Given the description of an element on the screen output the (x, y) to click on. 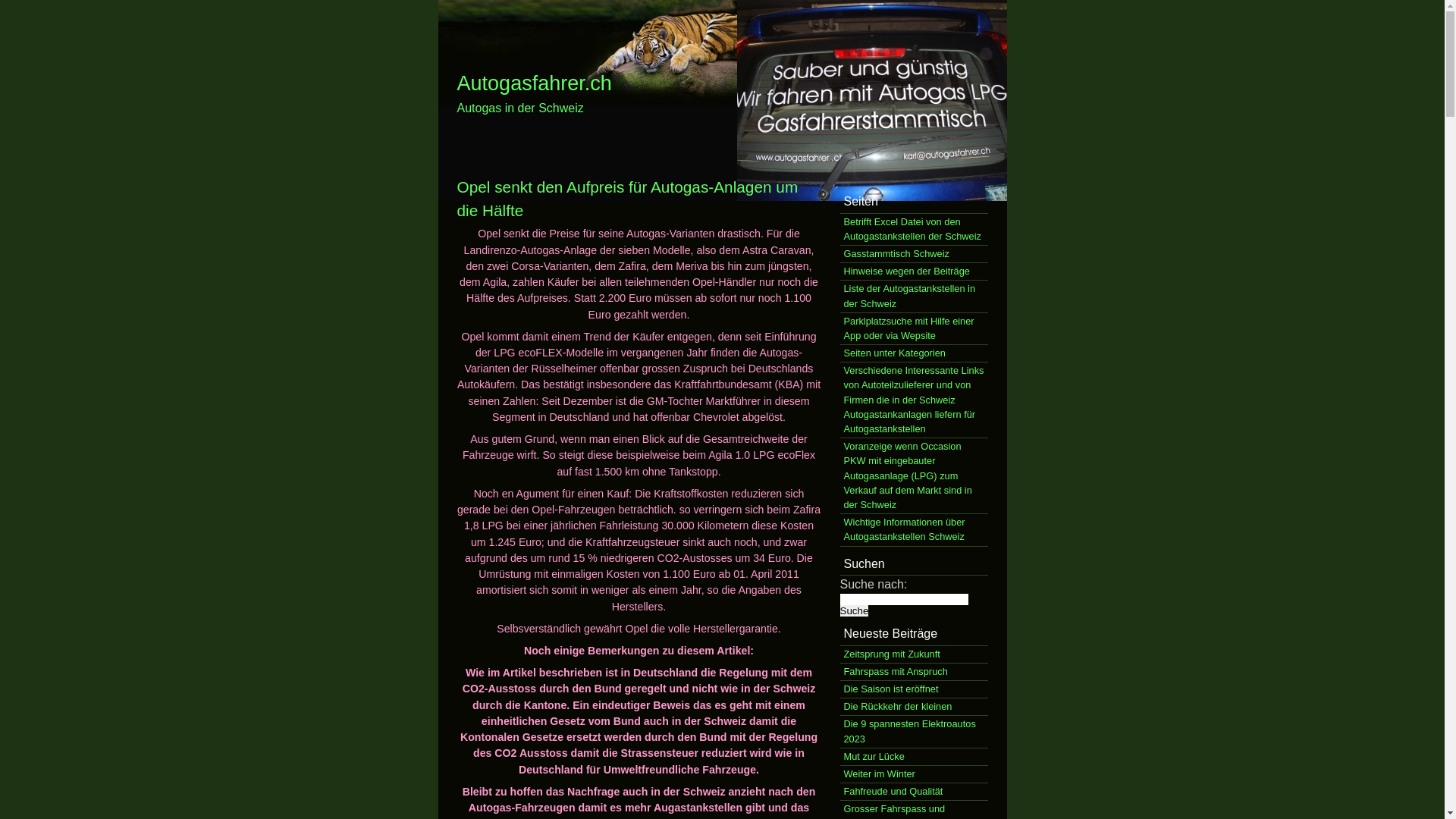
Fahrspass mit Anspruch Element type: text (914, 671)
Liste der Autogastankstellen in der Schweiz Element type: text (914, 296)
Gasstammtisch Schweiz Element type: text (914, 254)
Seiten unter Kategorien Element type: text (914, 353)
Zeitsprung mit Zukunft Element type: text (914, 654)
Betrifft Excel Datei von den Autogastankstellen der Schweiz Element type: text (914, 229)
Die 9 spannesten Elektroautos 2023 Element type: text (914, 731)
Autogasfahrer.ch Element type: text (534, 83)
Suche Element type: text (854, 610)
Parklplatzsuche mit Hilfe einer App oder via Wepsite Element type: text (914, 329)
Weiter im Winter Element type: text (914, 774)
